Given the description of an element on the screen output the (x, y) to click on. 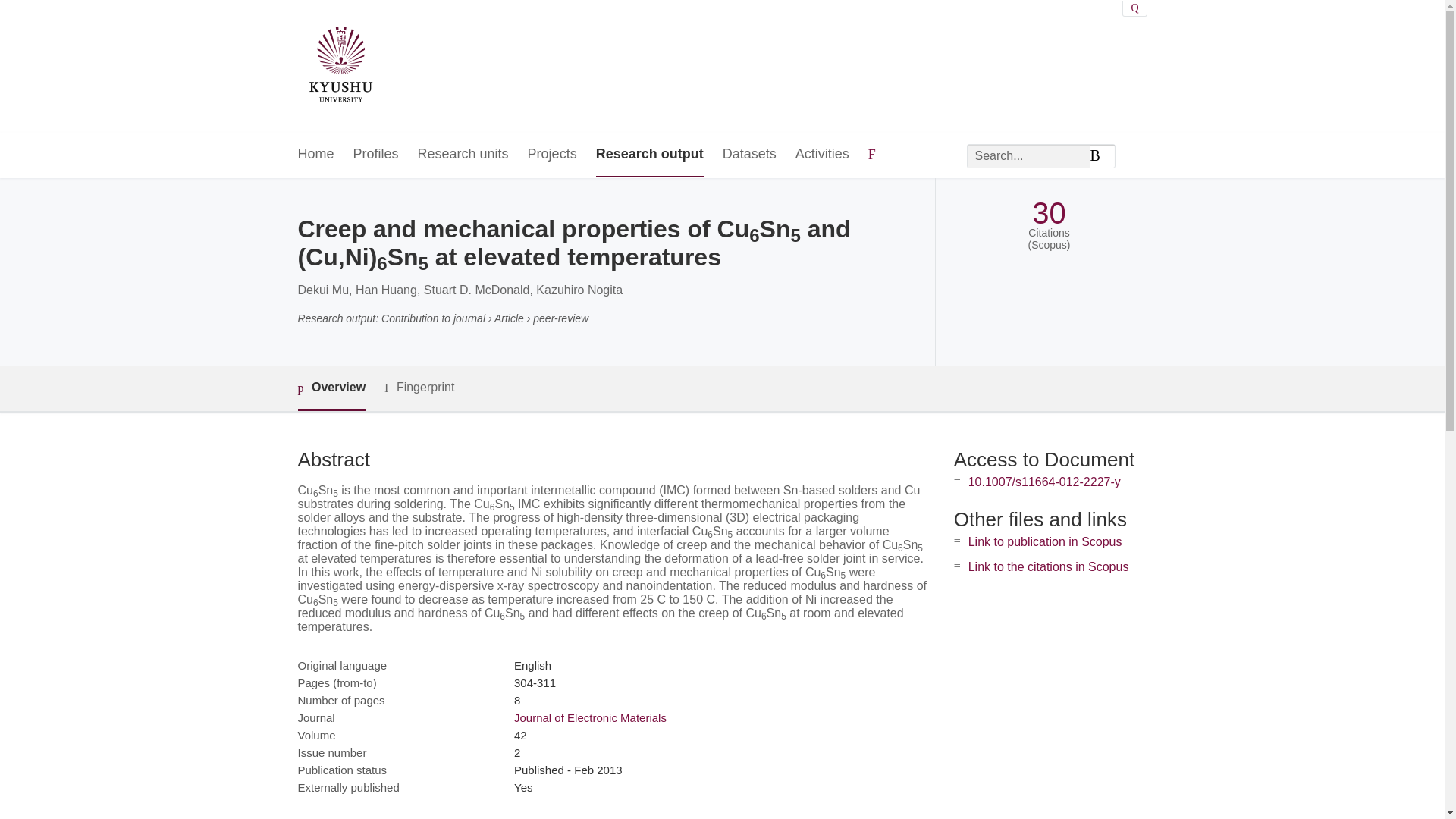
Home (315, 154)
Fingerprint (419, 387)
Kyushu University Home (340, 66)
Journal of Electronic Materials (589, 717)
Datasets (749, 154)
Profiles (375, 154)
Overview (331, 388)
Research units (462, 154)
30 (1048, 212)
Link to the citations in Scopus (1048, 566)
Research output (649, 154)
Link to publication in Scopus (1045, 541)
Projects (551, 154)
Activities (821, 154)
